Given the description of an element on the screen output the (x, y) to click on. 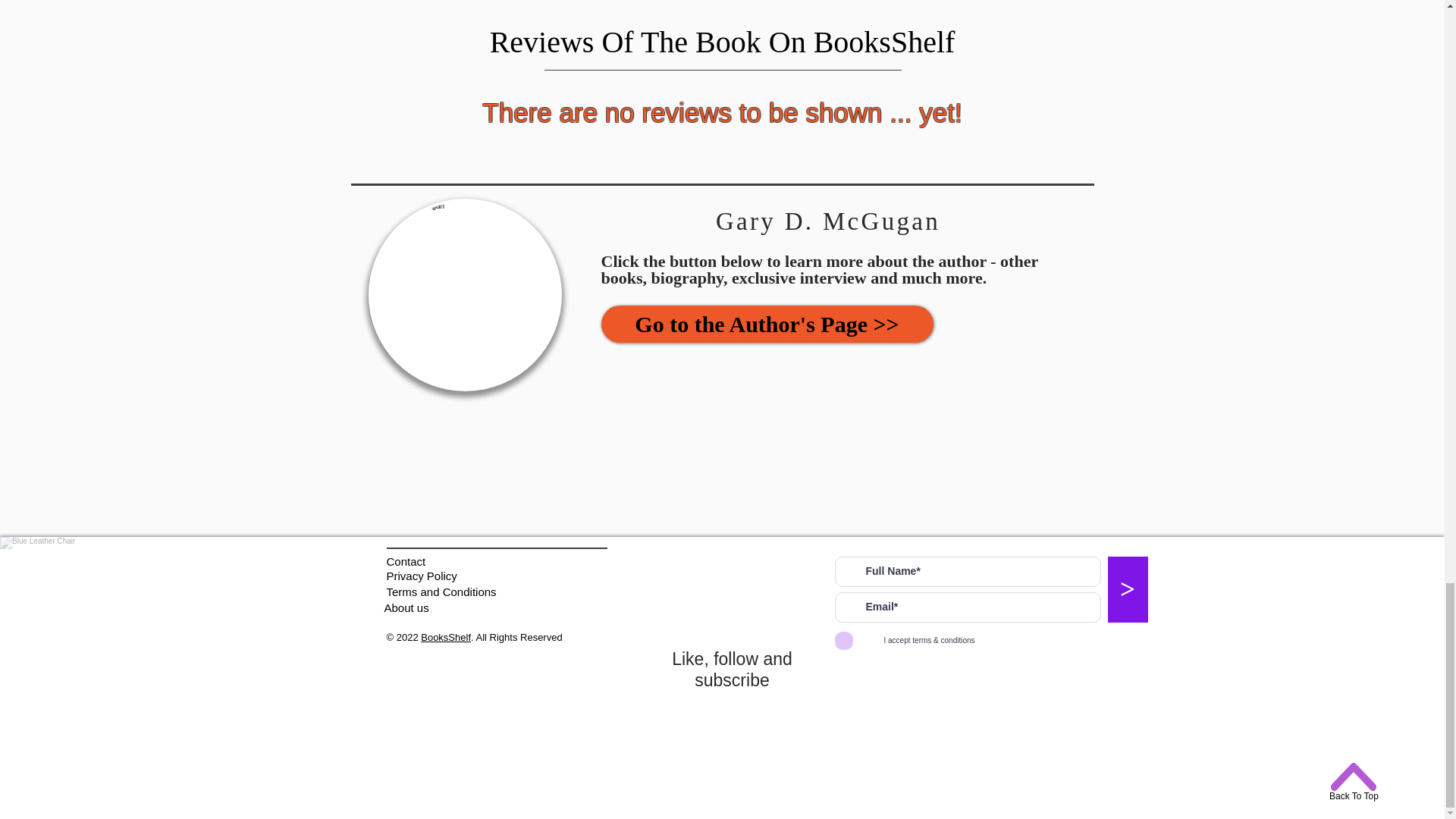
Gary D. McGugan (465, 295)
